Given the description of an element on the screen output the (x, y) to click on. 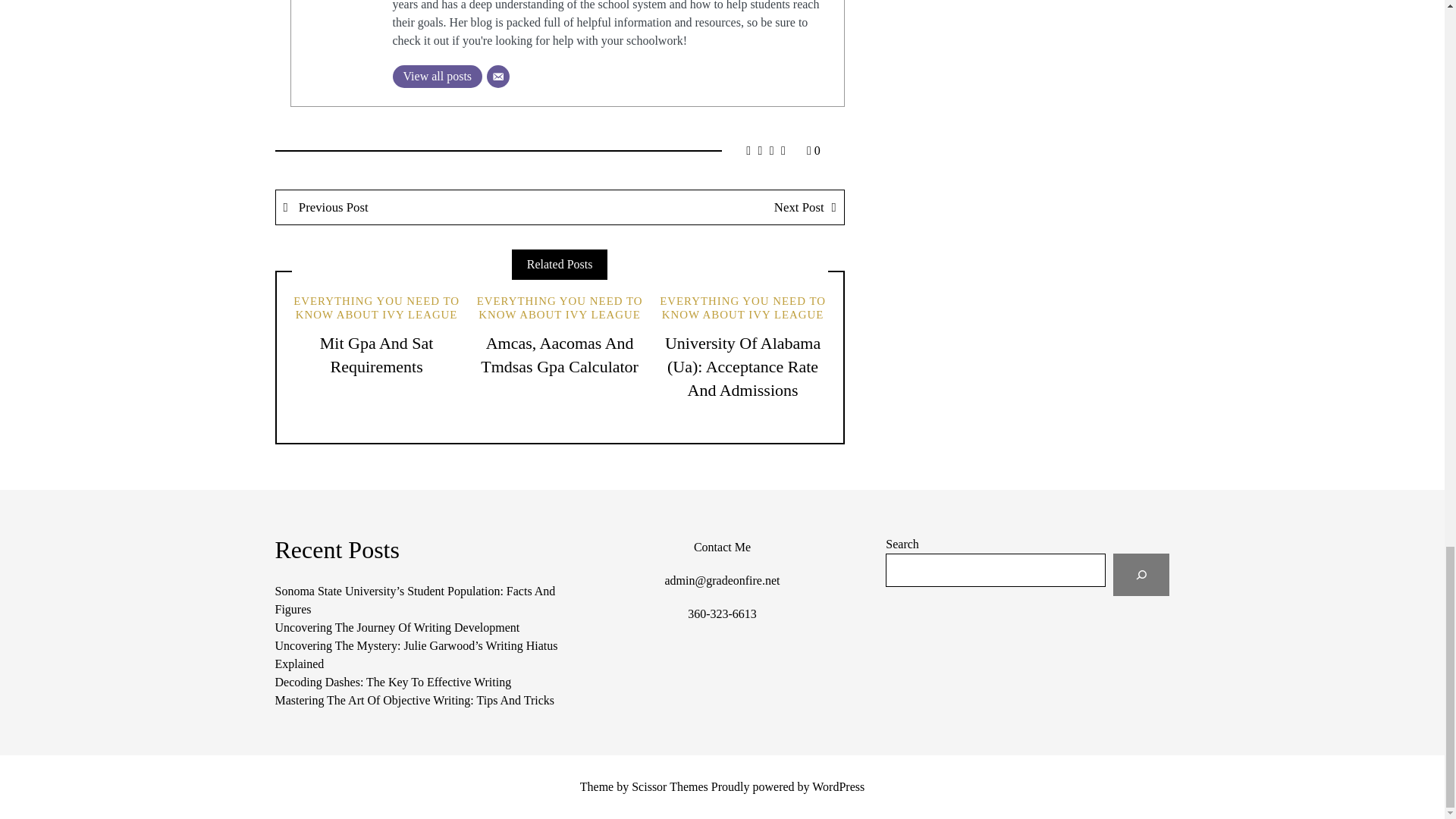
EVERYTHING YOU NEED TO KNOW ABOUT IVY LEAGUE (377, 307)
Amcas, Aacomas And Tmdsas Gpa Calculator (559, 354)
Decoding Dashes: The Key To Effective Writing (393, 681)
Previous Post (418, 207)
EVERYTHING YOU NEED TO KNOW ABOUT IVY LEAGUE (560, 307)
EVERYTHING YOU NEED TO KNOW ABOUT IVY LEAGUE (742, 307)
Mastering The Art Of Objective Writing: Tips And Tricks (414, 699)
View all posts (438, 76)
Next Post (701, 207)
Mit Gpa And Sat Requirements (376, 354)
